Given the description of an element on the screen output the (x, y) to click on. 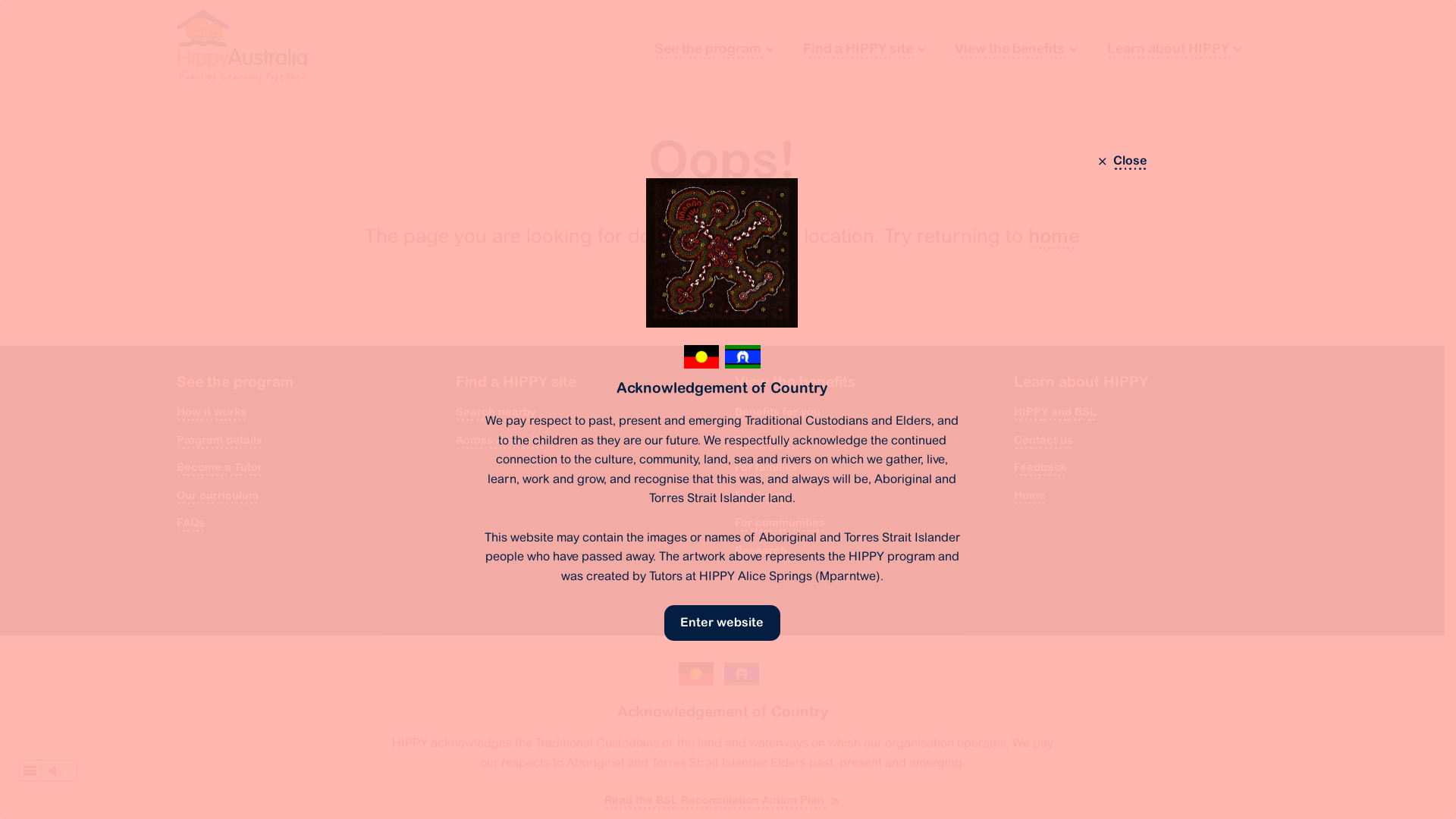
HIPPY and BSL Element type: text (1054, 412)
Feedback Element type: text (1039, 467)
webReader menu Element type: hover (29, 770)
HIPPY Australia Element type: hover (241, 46)
For communities Element type: text (779, 523)
Across Australia Element type: text (499, 439)
Read the BSL Reconciliation Action Plan Element type: text (721, 800)
Learn about HIPPY Element type: text (1173, 48)
Our curriculum Element type: text (216, 495)
Benefits for you Element type: text (776, 412)
Close Element type: text (1121, 160)
Enter website Element type: text (721, 622)
How it works Element type: text (210, 412)
Become a Tutor Element type: text (218, 467)
View the benefits Element type: text (1016, 48)
Research Element type: text (760, 550)
Program details Element type: text (218, 439)
home Element type: text (1053, 235)
For families Element type: text (765, 467)
See the program Element type: text (713, 48)
For Tutors Element type: text (761, 495)
Find a HIPPY site Element type: text (864, 48)
Search nearby Element type: text (495, 412)
Home Element type: text (1028, 495)
For children Element type: text (766, 439)
FAQs Element type: text (189, 523)
Listen to this page using ReadSpeaker webReader Element type: hover (47, 770)
Contact us Element type: text (1042, 439)
